Given the description of an element on the screen output the (x, y) to click on. 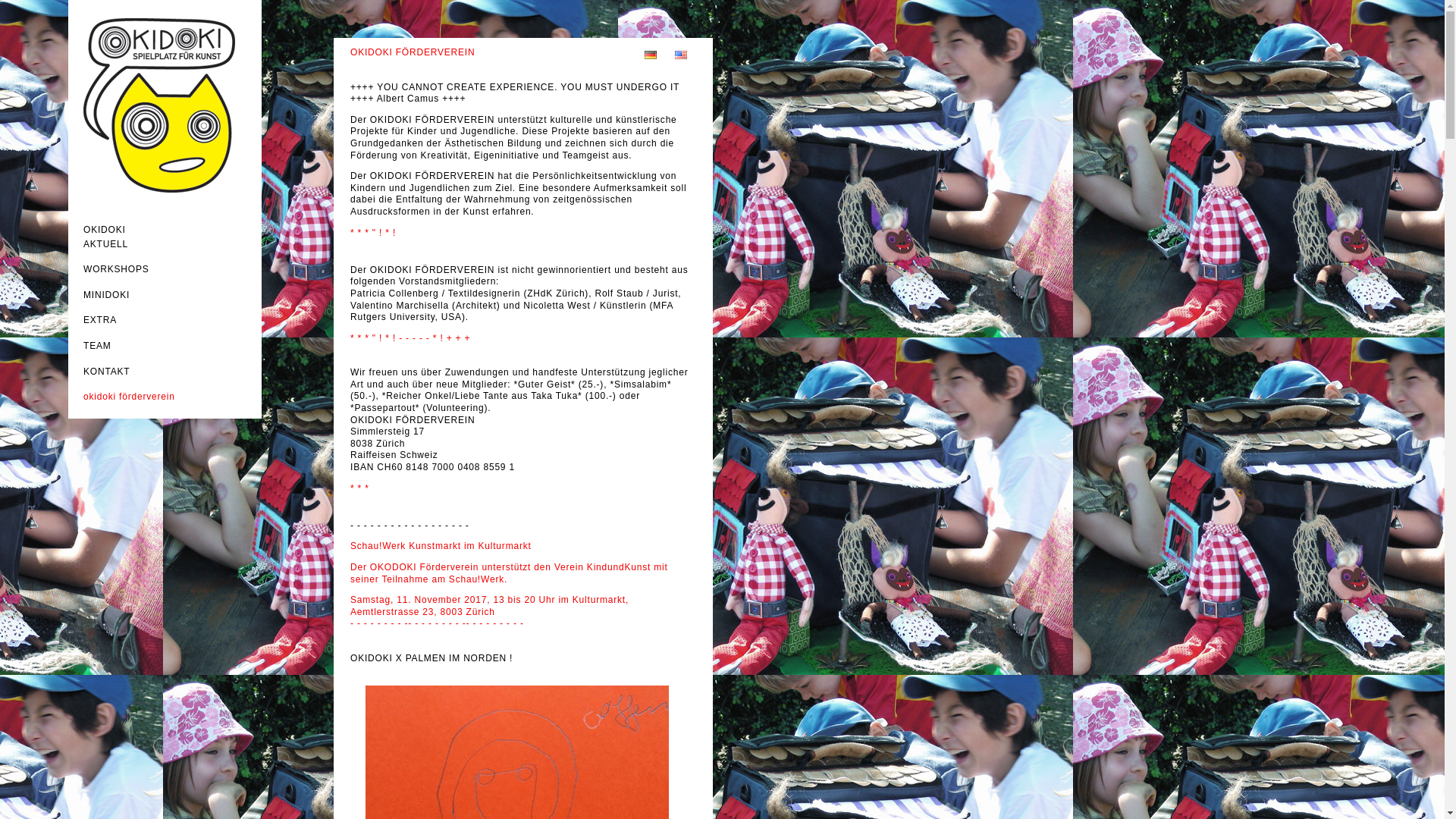
TEAM Element type: text (97, 345)
EXTRA Element type: text (99, 319)
WORKSHOPS Element type: text (116, 268)
AKTUELL Element type: text (105, 243)
KONTAKT Element type: text (106, 371)
MINIDOKI Element type: text (106, 294)
